Given the description of an element on the screen output the (x, y) to click on. 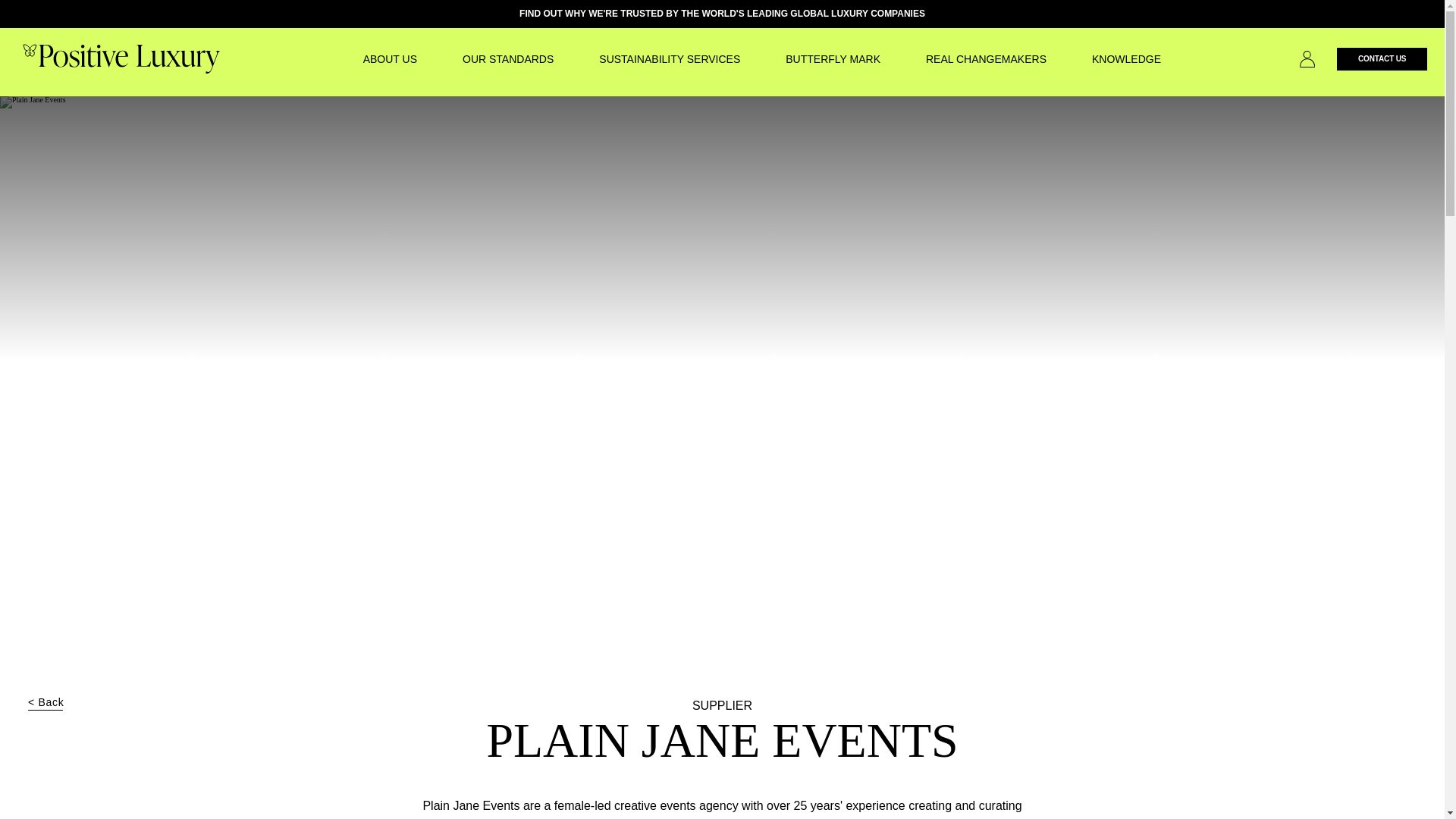
REAL CHANGEMAKERS (986, 59)
OUR STANDARDS (508, 59)
ABOUT US (389, 59)
SUSTAINABILITY SERVICES (668, 59)
BUTTERFLY MARK (833, 59)
